Given the description of an element on the screen output the (x, y) to click on. 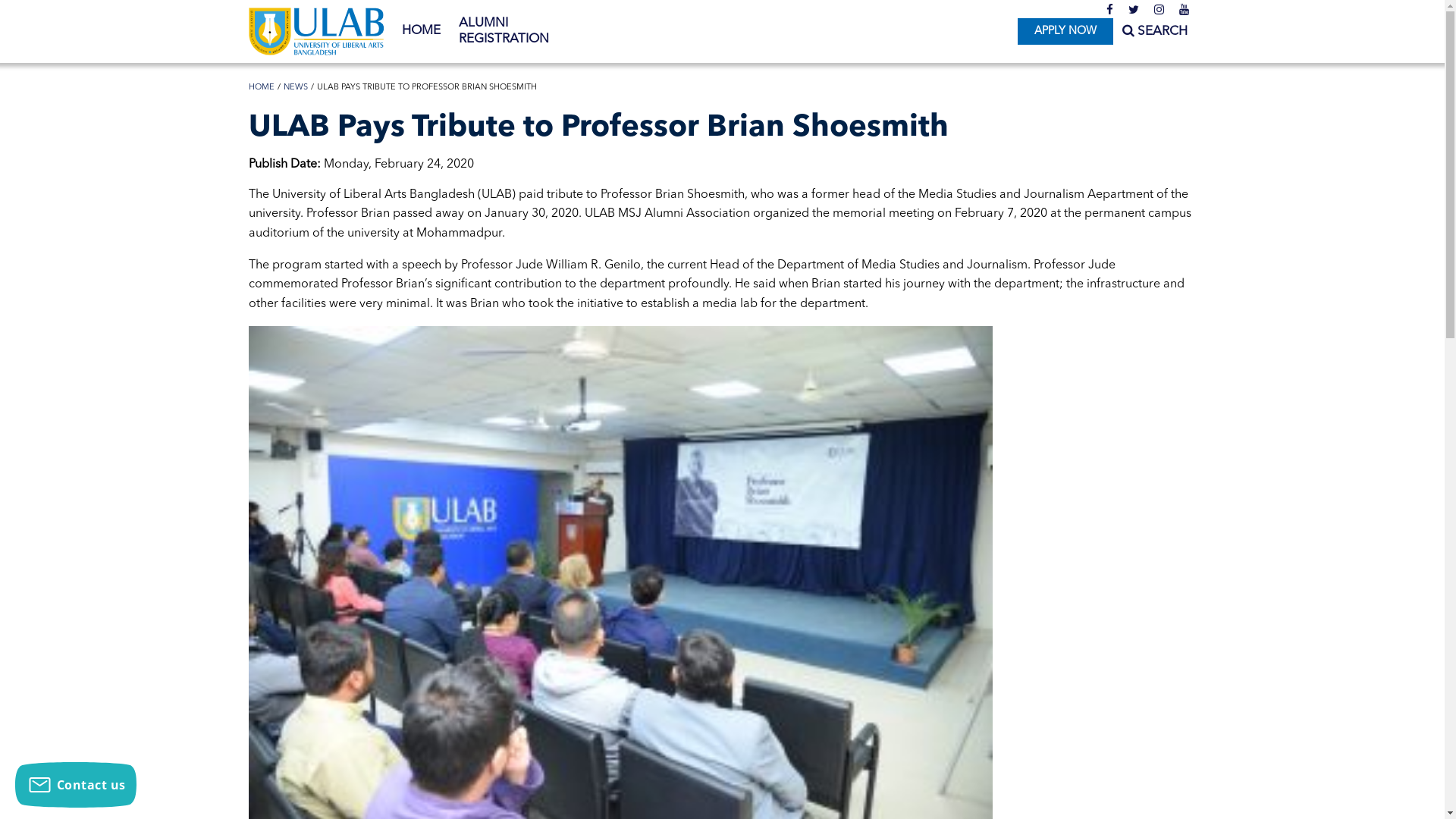
ALUMNI REGISTRATION Element type: text (521, 31)
HOME Element type: text (420, 30)
APPLY NOW Element type: text (1064, 31)
SEARCH Element type: text (1154, 31)
NEWS Element type: text (295, 87)
Contact us Element type: text (75, 784)
Skip to main content Element type: text (61, 0)
HOME Element type: text (261, 87)
